Given the description of an element on the screen output the (x, y) to click on. 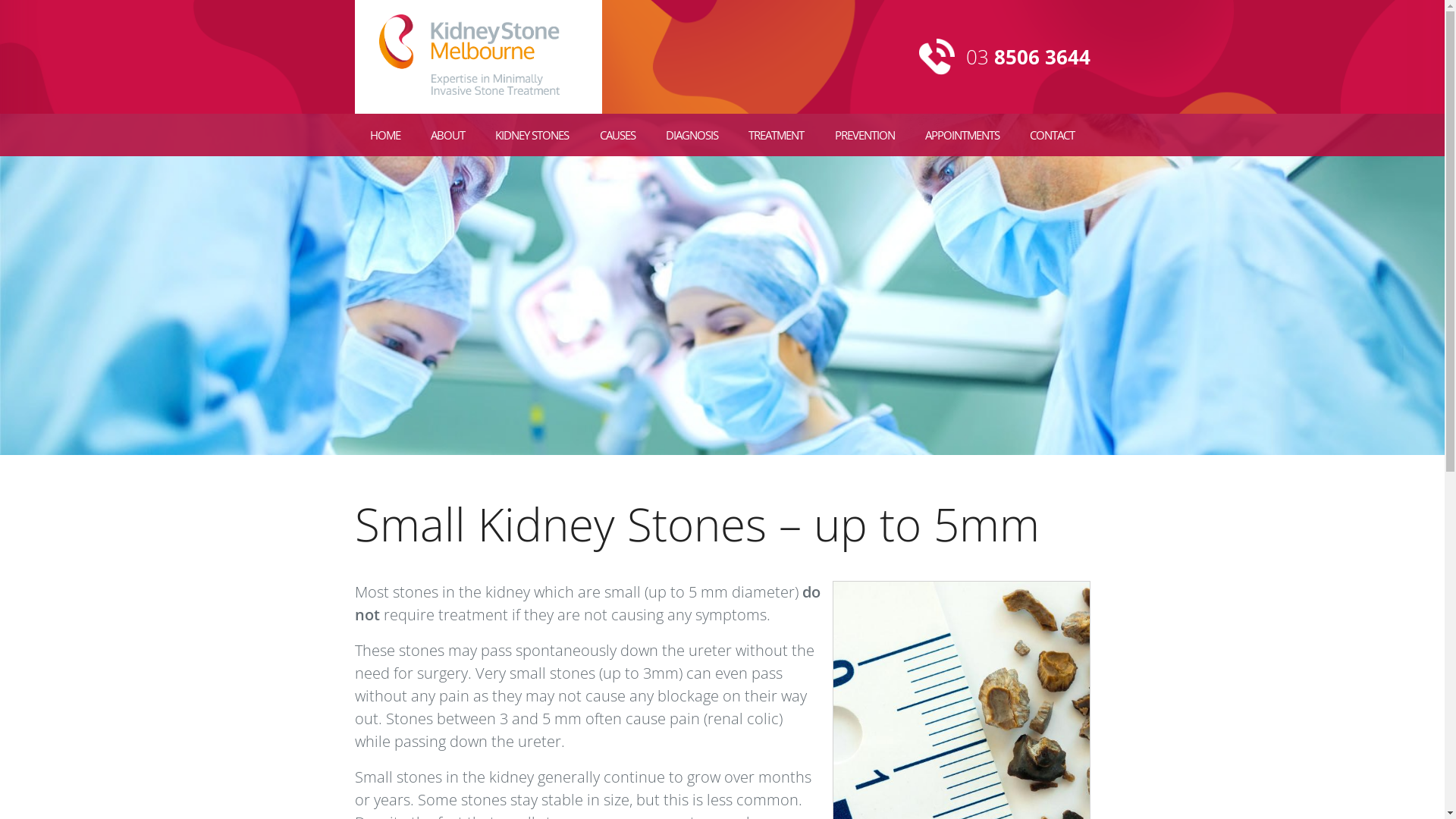
DIAGNOSIS Element type: text (691, 134)
ABOUT Element type: text (447, 134)
03 8506 3644 Element type: text (1004, 56)
CONTACT Element type: text (1051, 134)
PREVENTION Element type: text (864, 134)
YOUR VISIT Element type: text (985, 177)
MR URI HANEGBI Element type: text (491, 219)
HOME Element type: text (384, 134)
APPOINTMENTS Element type: text (962, 134)
CAUSES Element type: text (616, 134)
TREATMENT Element type: text (776, 134)
THE PRACTICE Element type: text (491, 177)
KIDNEY STONES Element type: text (531, 134)
Skip to main content Element type: text (71, 0)
FEES AND PAYMENT Element type: text (985, 219)
